Given the description of an element on the screen output the (x, y) to click on. 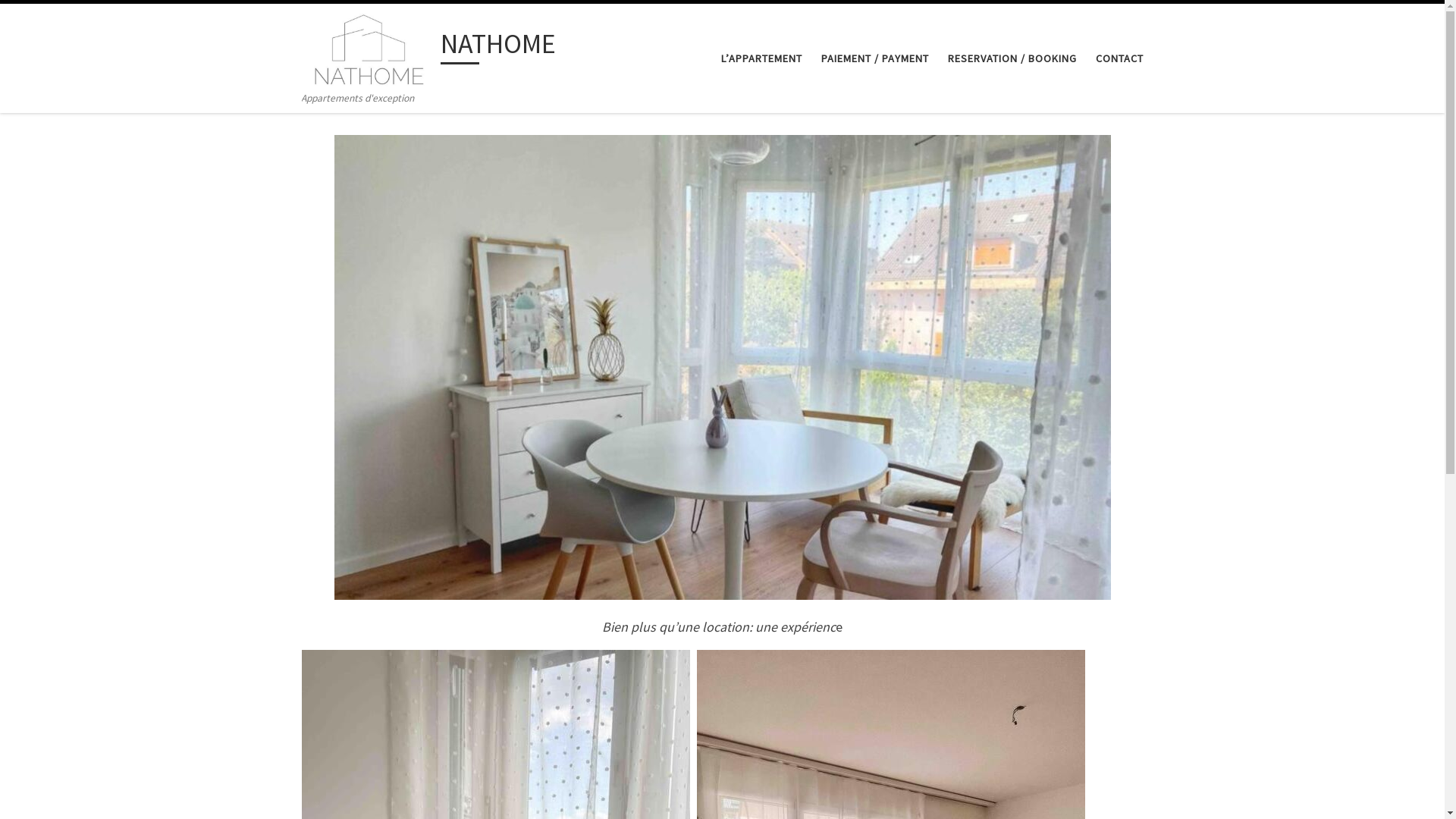
NATHOME Element type: text (497, 47)
Passer au contenu Element type: text (64, 21)
RESERVATION / BOOKING Element type: text (1011, 58)
PAIEMENT / PAYMENT Element type: text (874, 58)
CONTACT Element type: text (1119, 58)
